Given the description of an element on the screen output the (x, y) to click on. 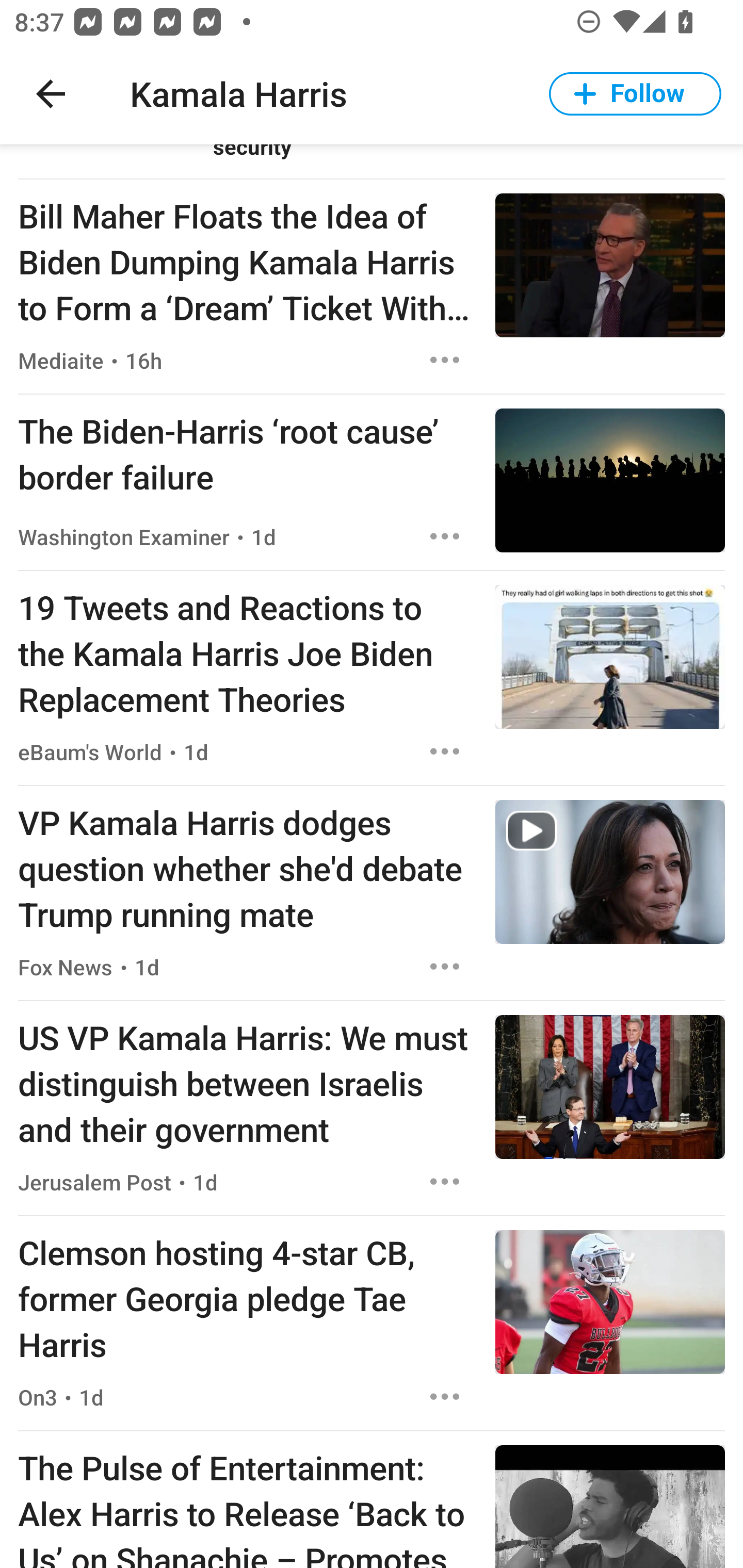
Navigate up (50, 93)
Follow (635, 94)
Options (444, 359)
Options (444, 536)
Options (444, 751)
Options (444, 966)
Options (444, 1181)
Options (444, 1397)
